Given the description of an element on the screen output the (x, y) to click on. 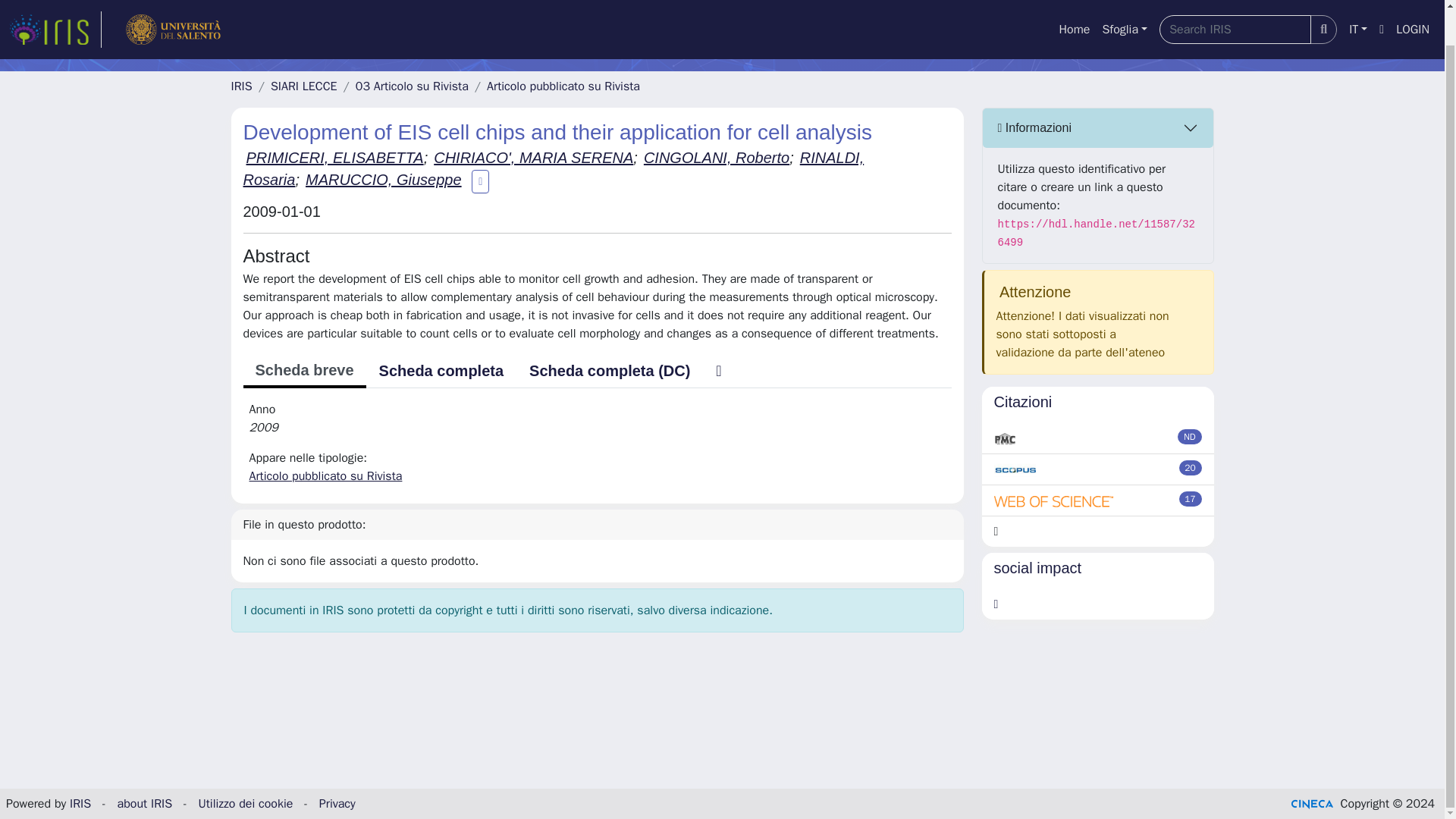
Articolo pubblicato su Rivista (324, 476)
PRIMICERI, ELISABETTA (334, 157)
LOGIN (1412, 4)
Articolo pubblicato su Rivista (563, 86)
 Informazioni (1097, 128)
IRIS (240, 86)
Sfoglia (1124, 4)
aggiornato in data 17-07-2024 17:52 (1190, 467)
Home (1074, 4)
Scheda completa (441, 370)
03 Articolo su Rivista (411, 86)
CHIRIACO', MARIA SERENA (533, 157)
IT (1357, 4)
CINGOLANI, Roberto (716, 157)
